Given the description of an element on the screen output the (x, y) to click on. 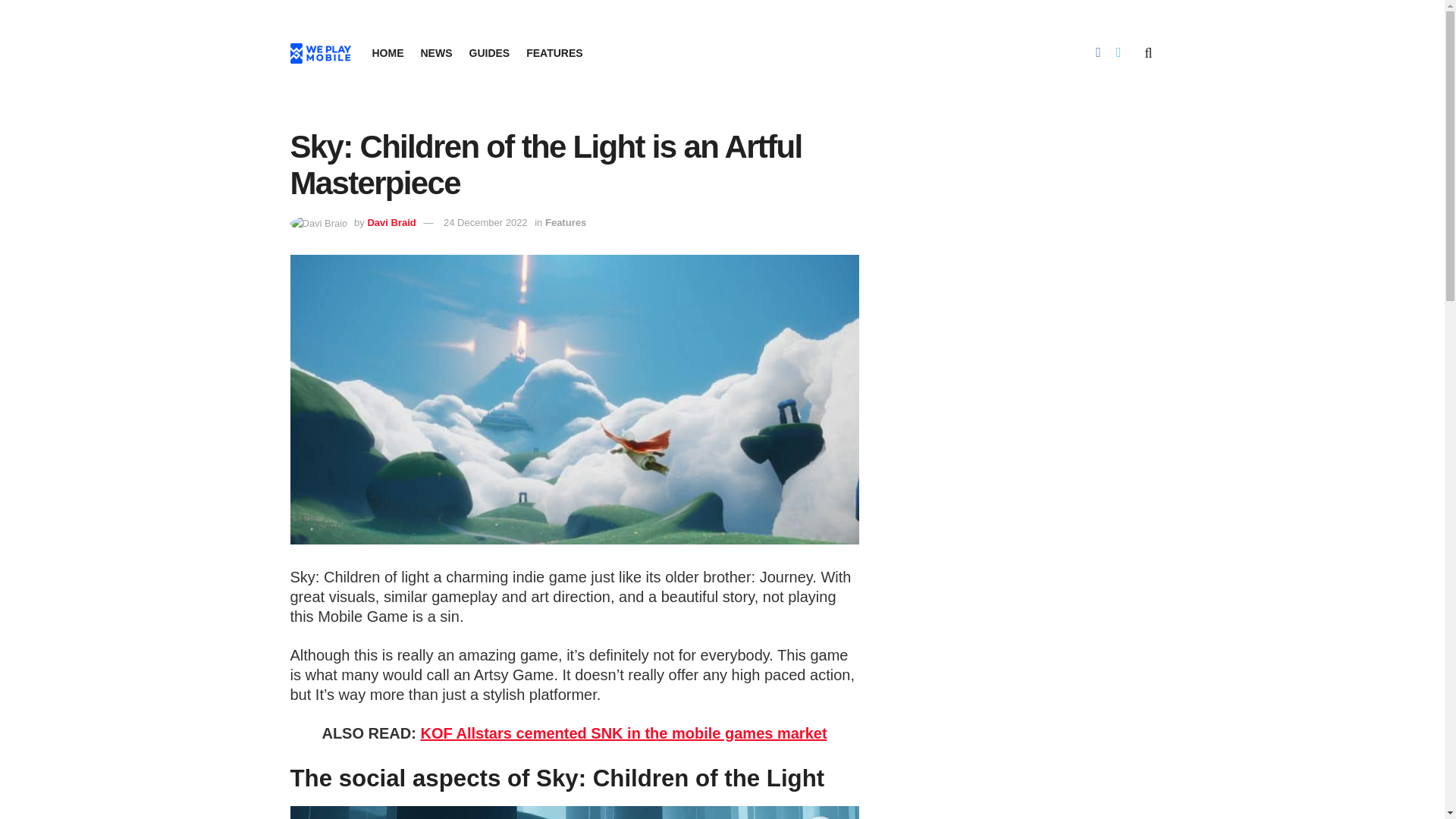
HOME (387, 53)
NEWS (435, 53)
GUIDES (488, 53)
FEATURES (553, 53)
Features (565, 222)
Davi Braid (390, 222)
24 December 2022 (485, 222)
KOF Allstars cemented SNK in the mobile games market (623, 733)
